Given the description of an element on the screen output the (x, y) to click on. 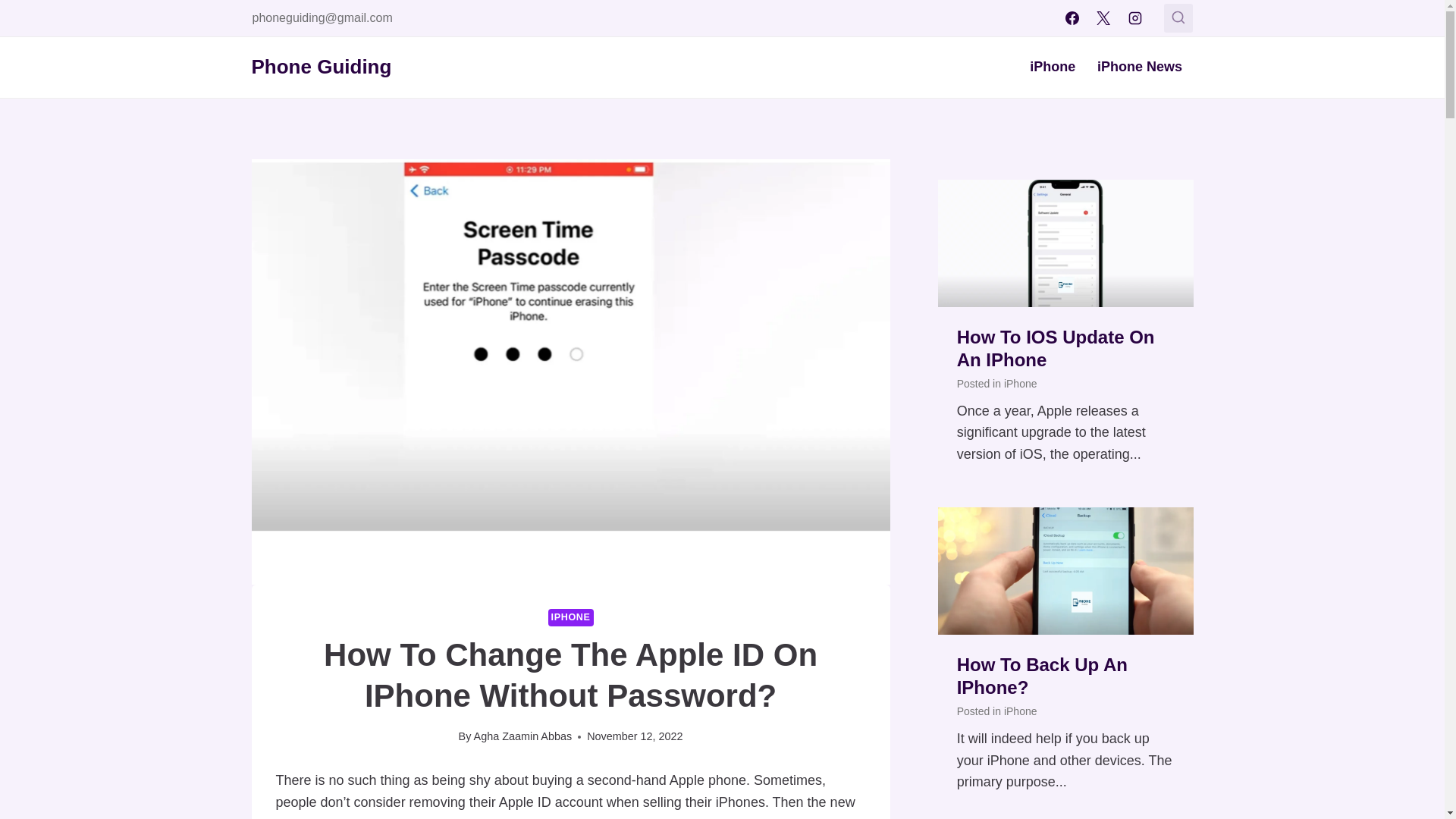
iPhone News (1139, 66)
IPHONE (571, 617)
Agha Zaamin Abbas (523, 736)
Phone Guiding (321, 66)
How to back up an iPhone? 9 (1065, 570)
iPhone (1052, 66)
How to IOS Update on an iPhone 8 (1065, 243)
